Given the description of an element on the screen output the (x, y) to click on. 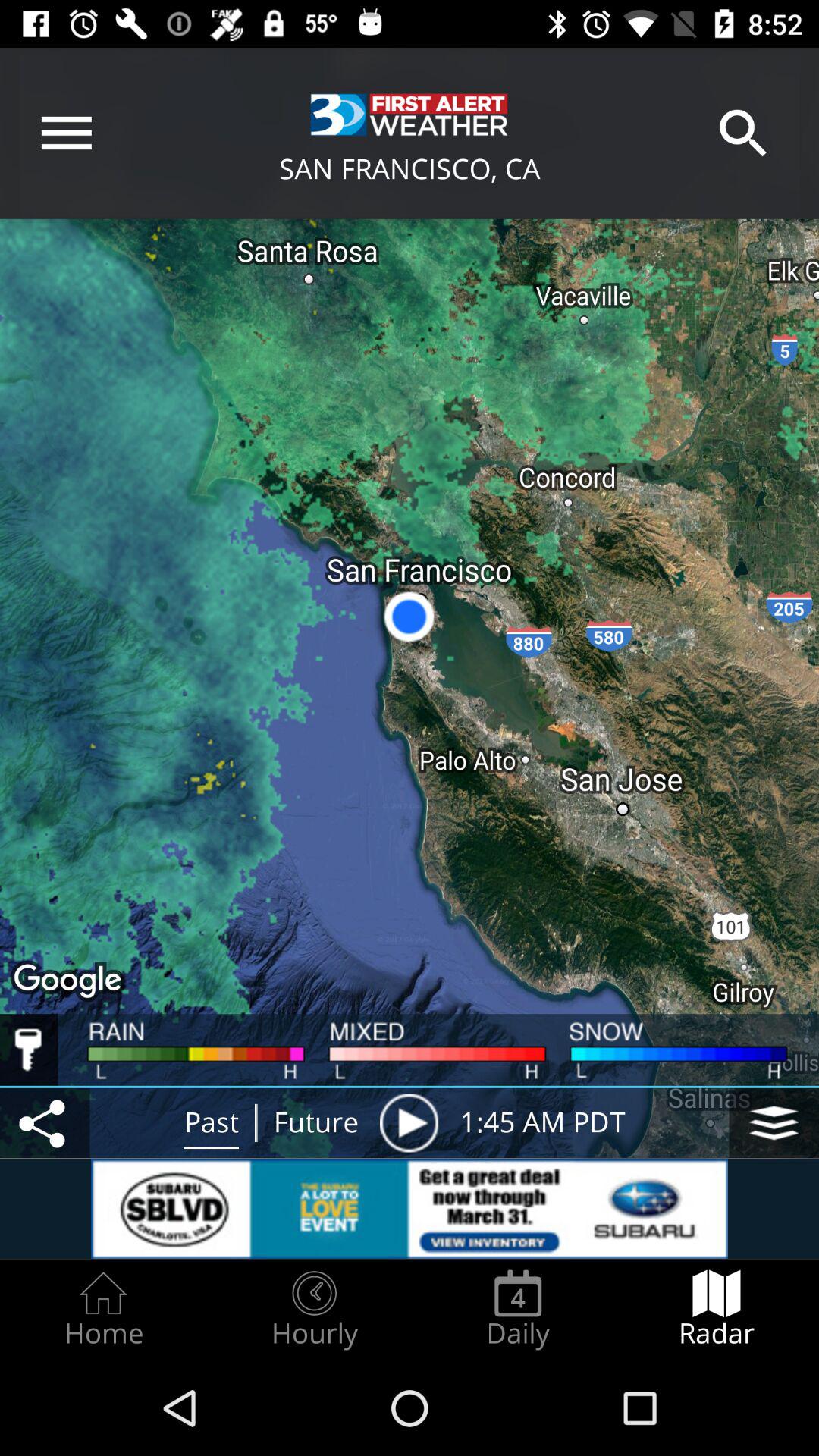
view the key (29, 1049)
